Given the description of an element on the screen output the (x, y) to click on. 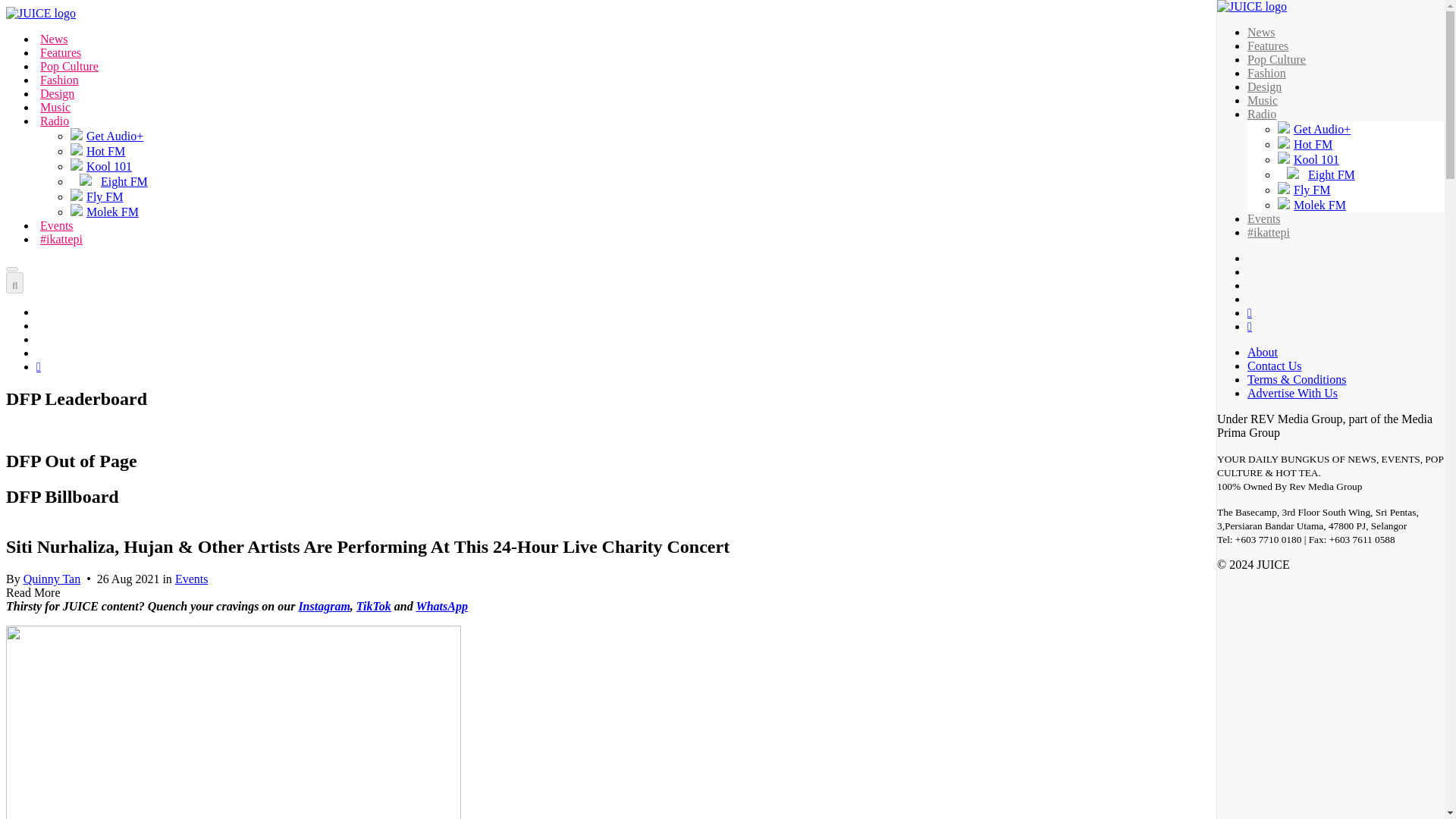
Hot FM (1305, 144)
Fashion (59, 76)
Events (57, 221)
Toggle navigation (11, 268)
Music (54, 104)
Radio (54, 117)
News (53, 35)
Fly FM (95, 196)
Fashion (59, 76)
Eight FM (108, 181)
Molek FM (103, 211)
News (53, 35)
Eight FM (1316, 174)
Fashion (1266, 72)
Design (57, 90)
